Given the description of an element on the screen output the (x, y) to click on. 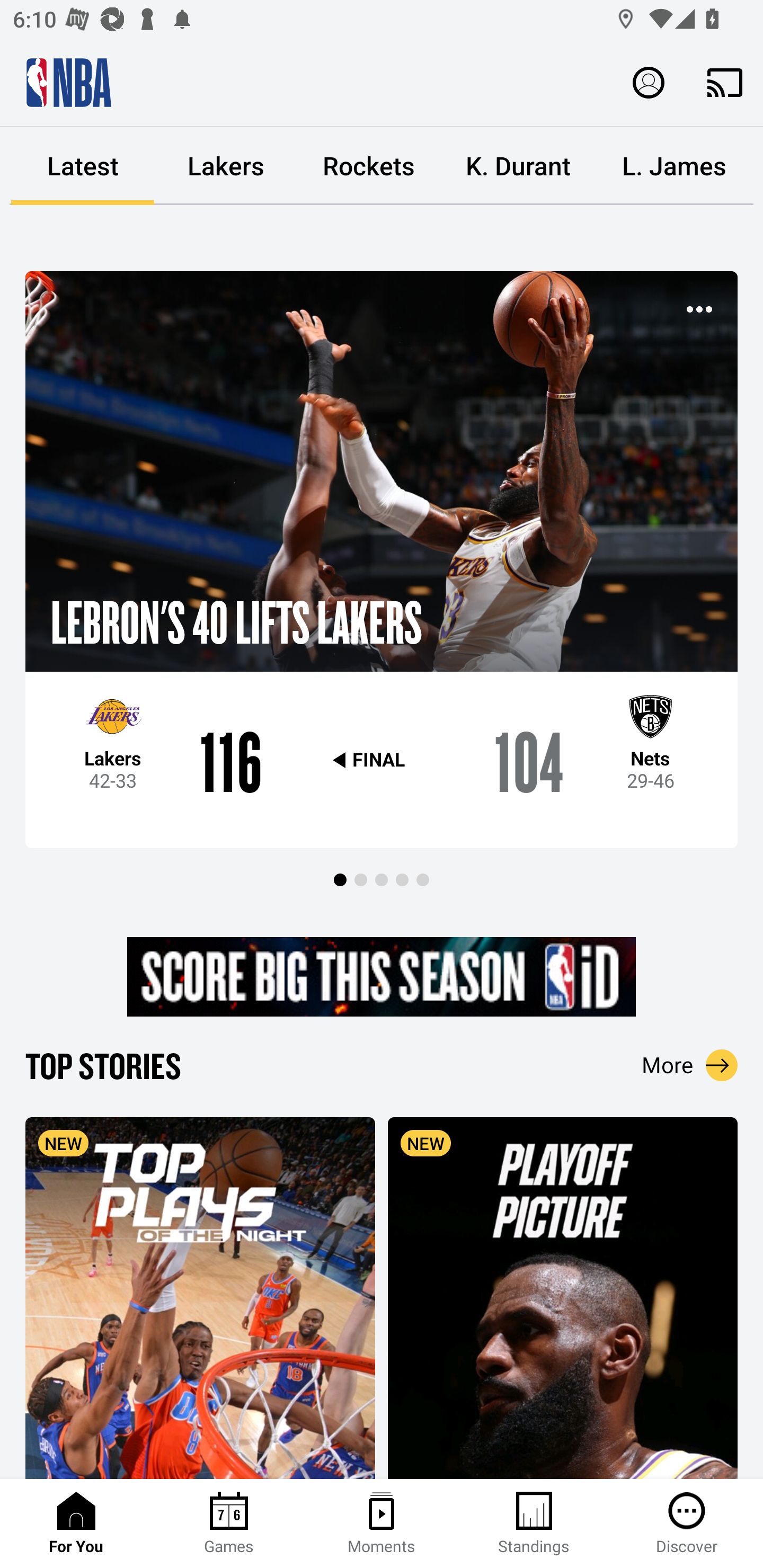
Cast. Disconnected (724, 82)
Profile (648, 81)
Lakers (225, 166)
Rockets (368, 166)
K. Durant (518, 166)
L. James (673, 166)
TOP STORIES More NEW NEW (381, 1260)
More (689, 1064)
NEW (200, 1297)
NEW (562, 1297)
Games (228, 1523)
Moments (381, 1523)
Standings (533, 1523)
Discover (686, 1523)
